Given the description of an element on the screen output the (x, y) to click on. 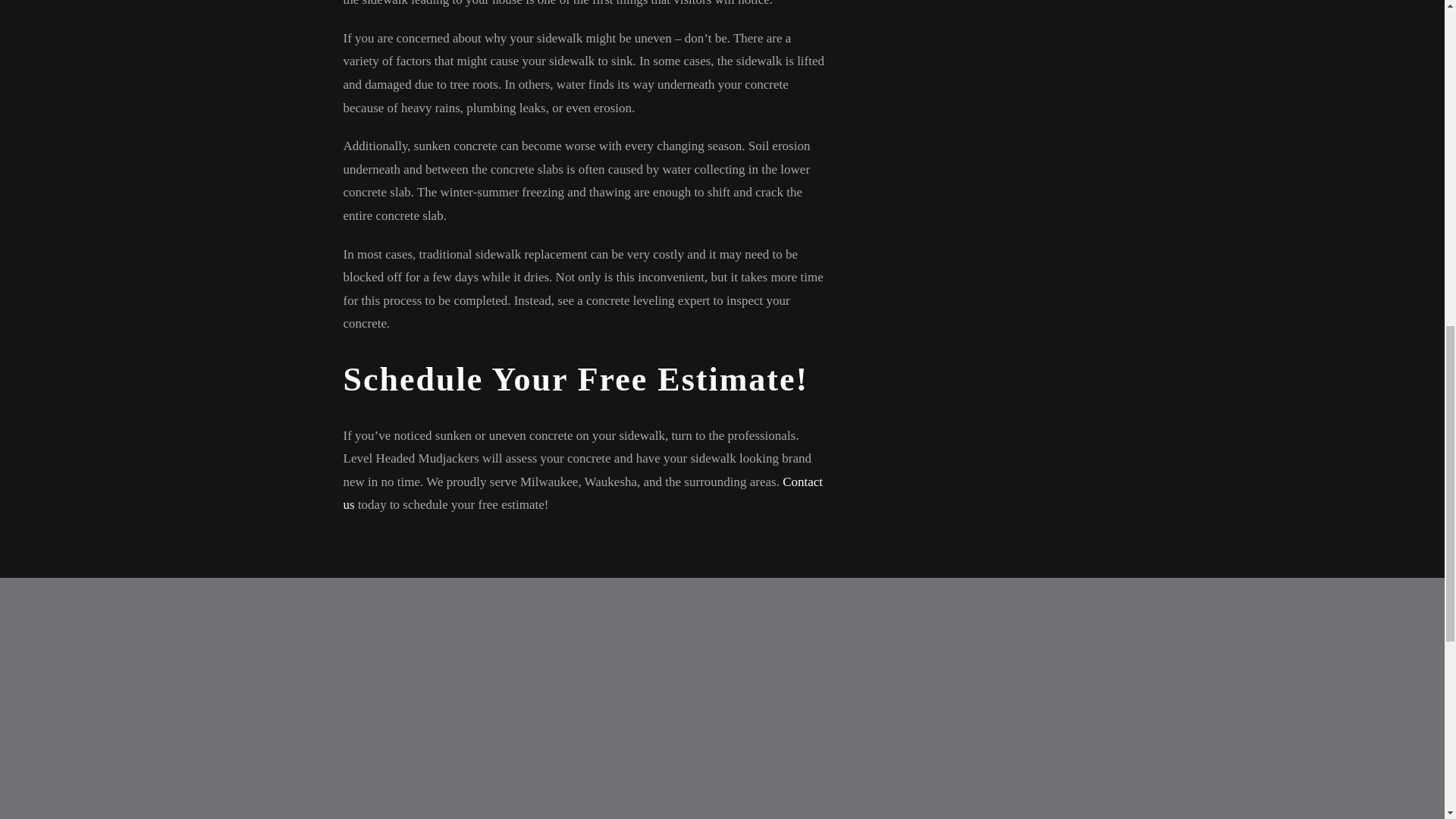
Contact us (582, 493)
